Given the description of an element on the screen output the (x, y) to click on. 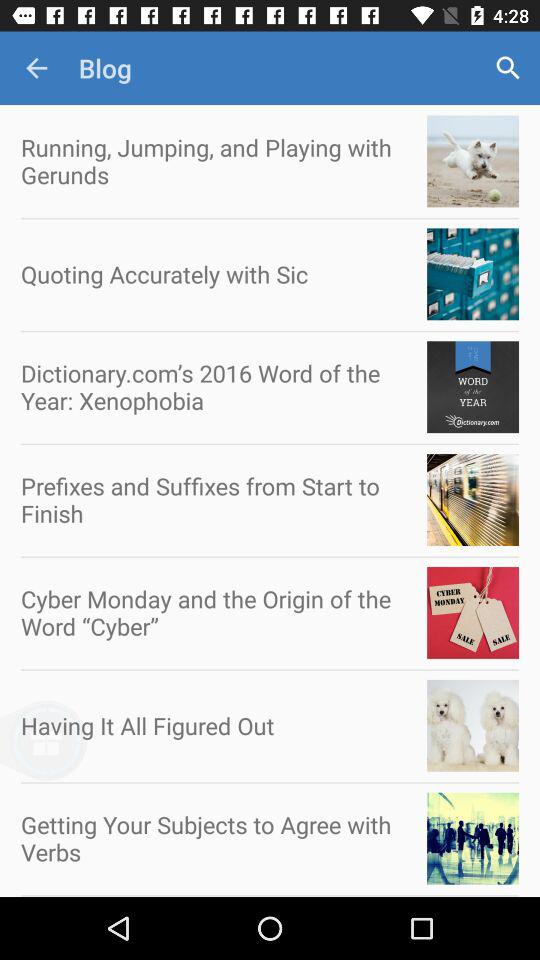
turn on icon next to the blog (36, 68)
